Given the description of an element on the screen output the (x, y) to click on. 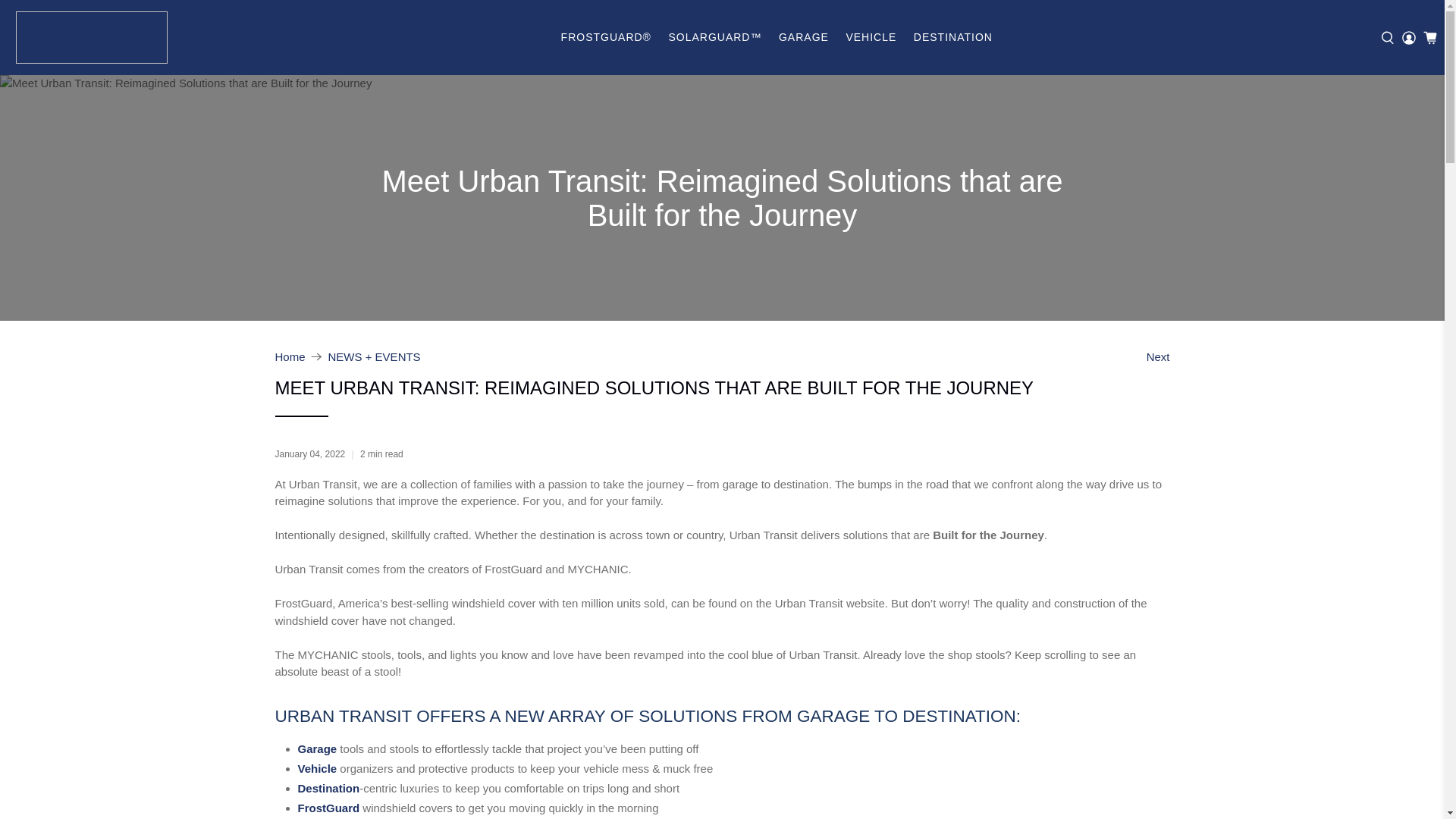
Urban Transit Vehicle Collection (316, 768)
Urban Transit FrostGuard Windshield Covers Collection (328, 807)
Urban Transit Garage Collection (316, 748)
DESTINATION (953, 37)
GARAGE (803, 37)
Urban Transit Destination Collection (328, 788)
VEHICLE (870, 37)
Next (1158, 356)
